Given the description of an element on the screen output the (x, y) to click on. 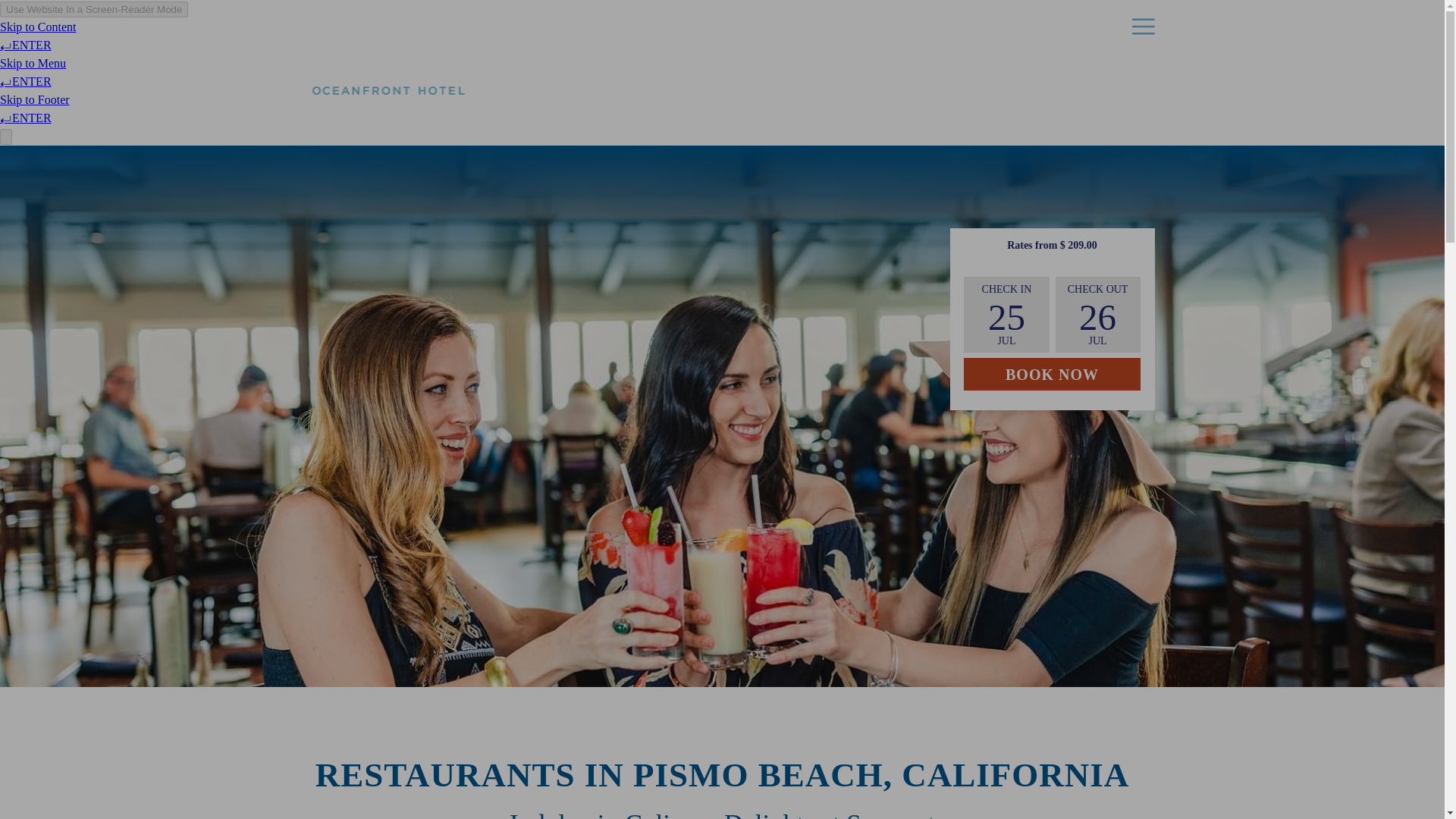
Menu (1142, 26)
Back to the homepage (1051, 373)
AMENITIES (392, 64)
GALLERY (932, 26)
DINING (1016, 26)
ACCOMMODATIONS (1088, 26)
